Given the description of an element on the screen output the (x, y) to click on. 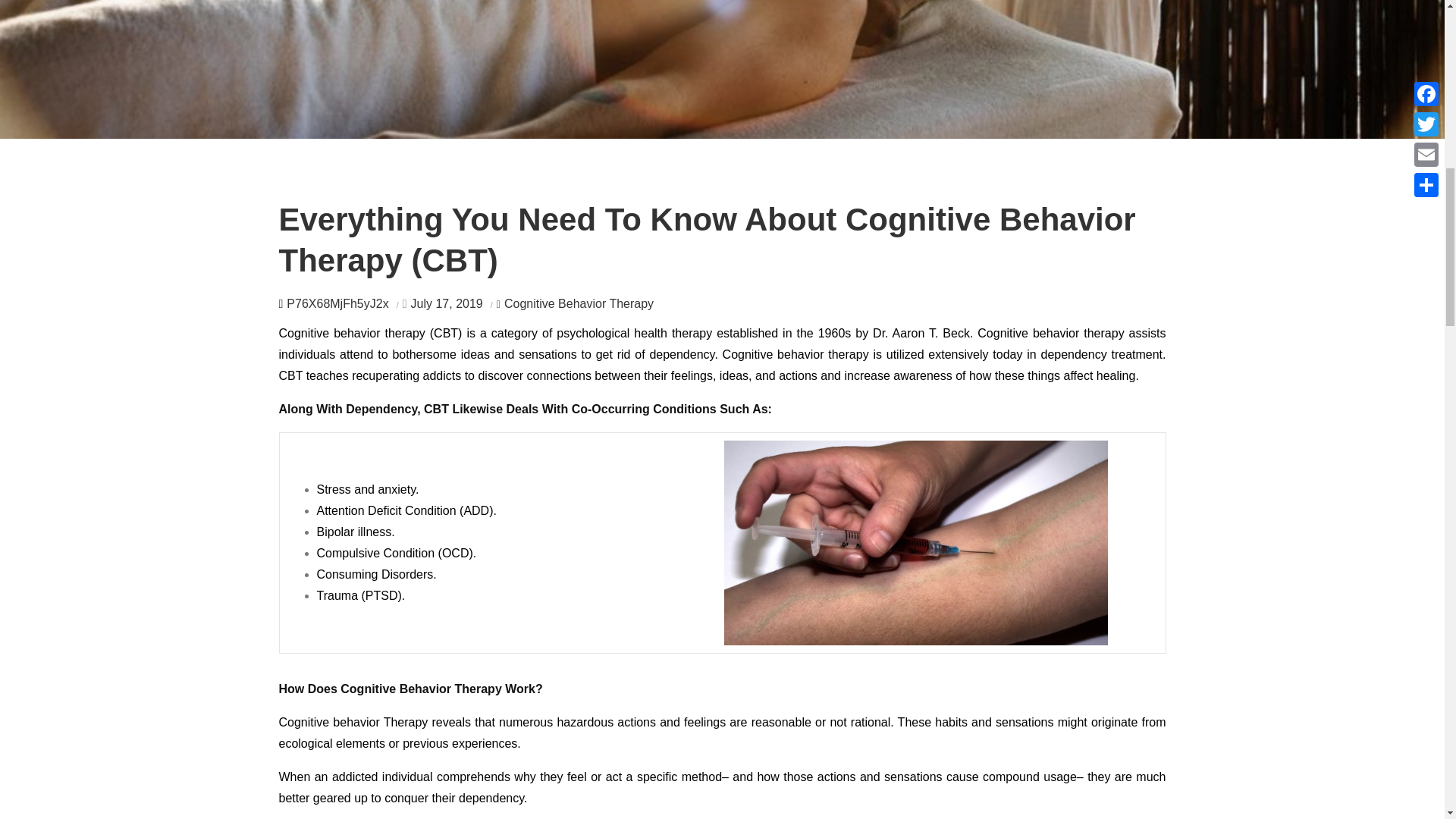
July 17, 2019 (446, 303)
P76X68MjFh5yJ2x (337, 303)
Cognitive Behavior Therapy (574, 303)
